Given the description of an element on the screen output the (x, y) to click on. 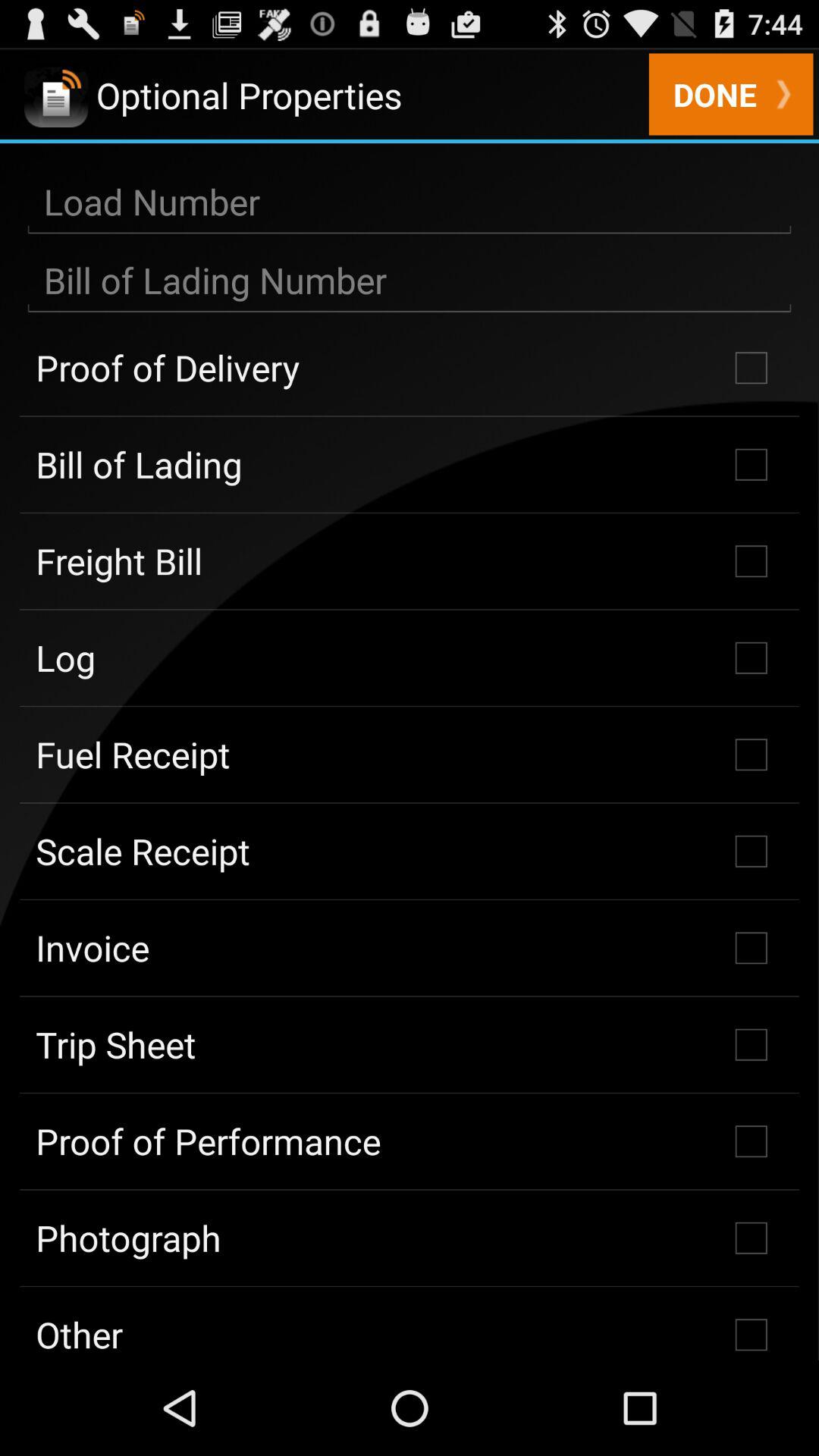
select icon below fuel receipt item (409, 851)
